Given the description of an element on the screen output the (x, y) to click on. 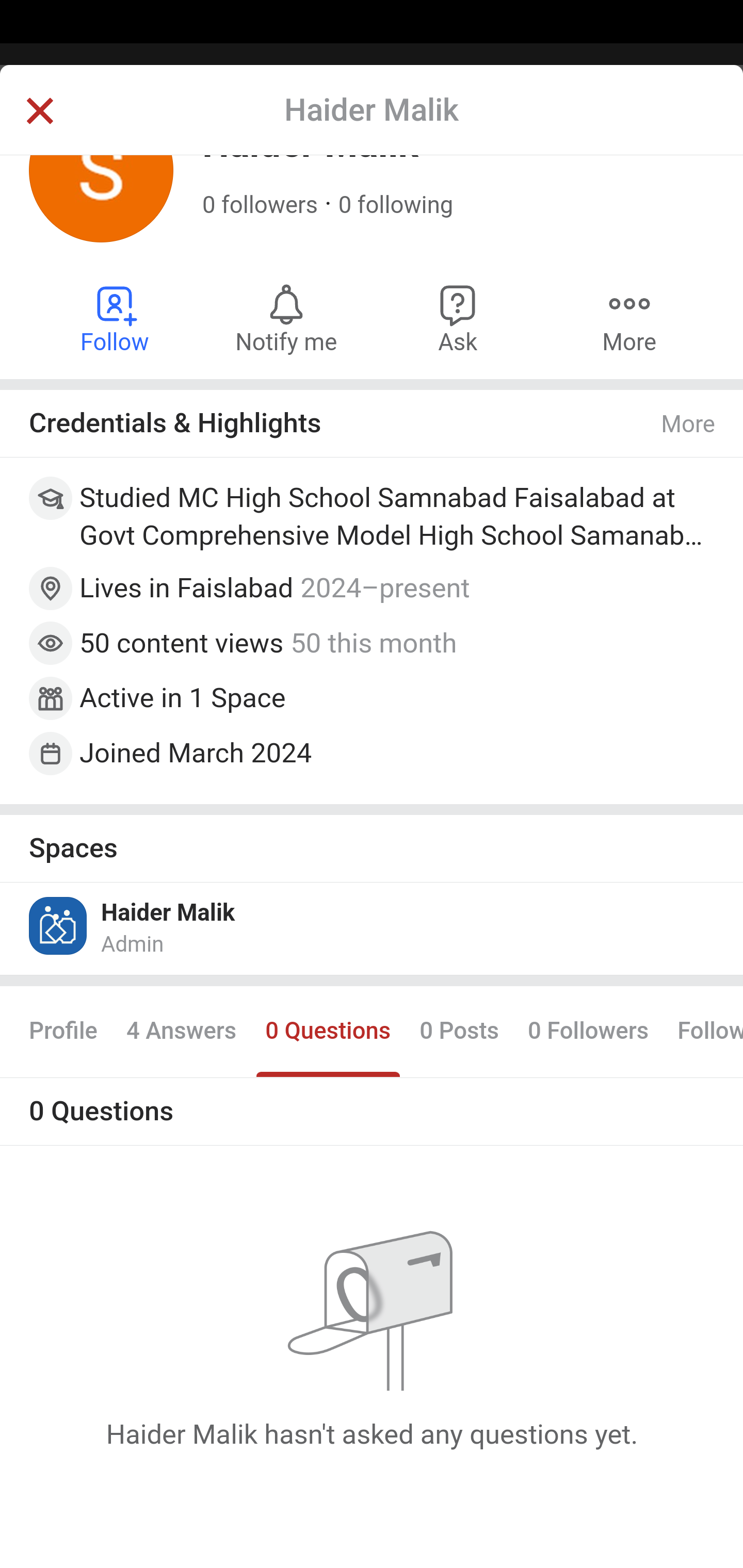
Back Answer (371, 125)
0 followers (260, 206)
0 following (395, 206)
Follow Haider Malik Follow (115, 319)
Notify me (285, 319)
Ask (458, 319)
More (628, 319)
More (688, 425)
Icon for Haider Malik (58, 926)
Haider Malik (168, 913)
Profile (63, 1032)
4 Answers (180, 1032)
0 Questions (327, 1032)
0 Posts (459, 1032)
0 Followers (588, 1032)
Following (702, 1032)
